Given the description of an element on the screen output the (x, y) to click on. 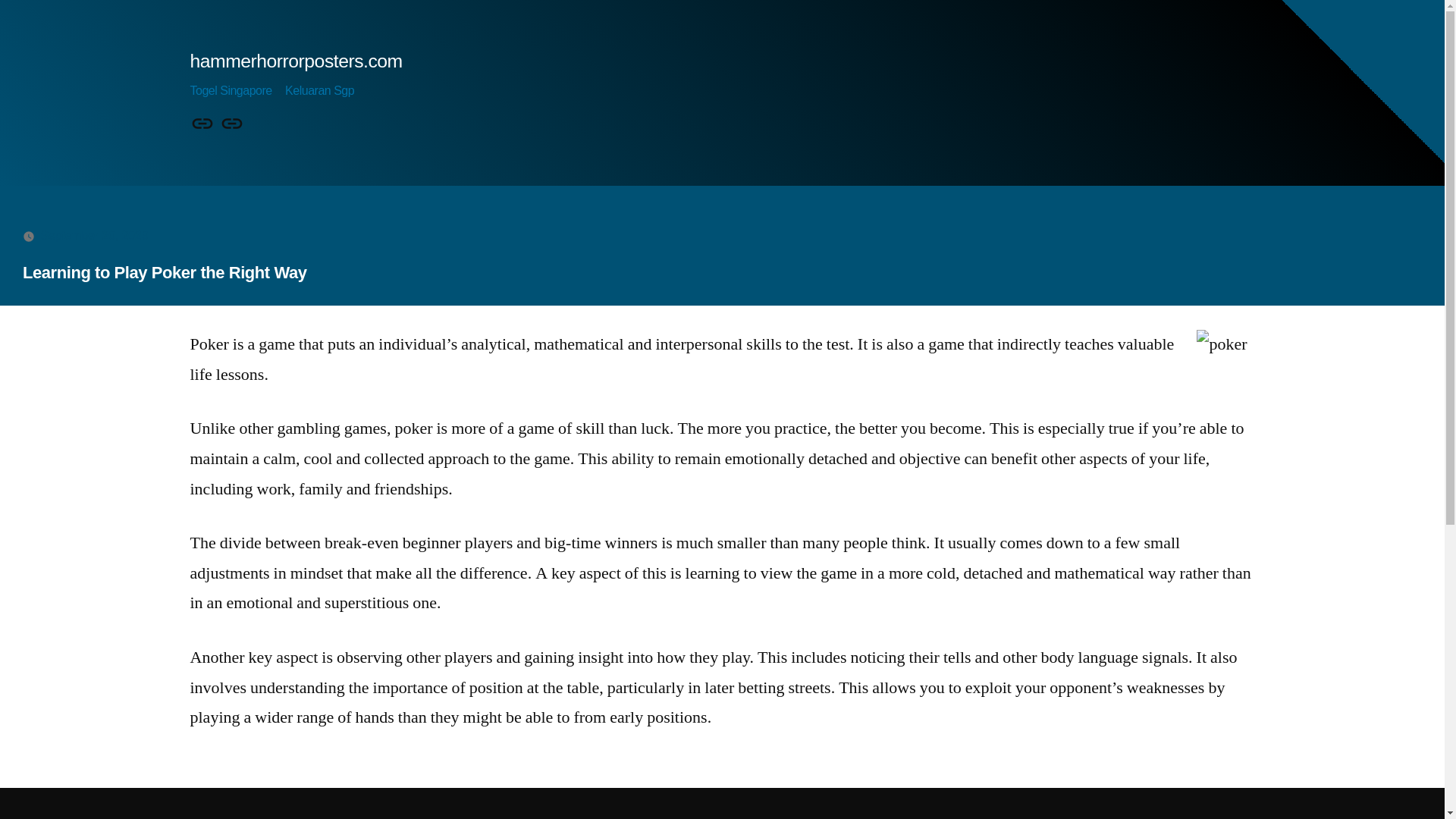
Togel Singapore (201, 123)
Keluaran Sgp (231, 123)
Keluaran Sgp (319, 90)
hammerhorrorposters.com (295, 60)
Togel Singapore (229, 90)
September 20, 2023 (94, 235)
